Given the description of an element on the screen output the (x, y) to click on. 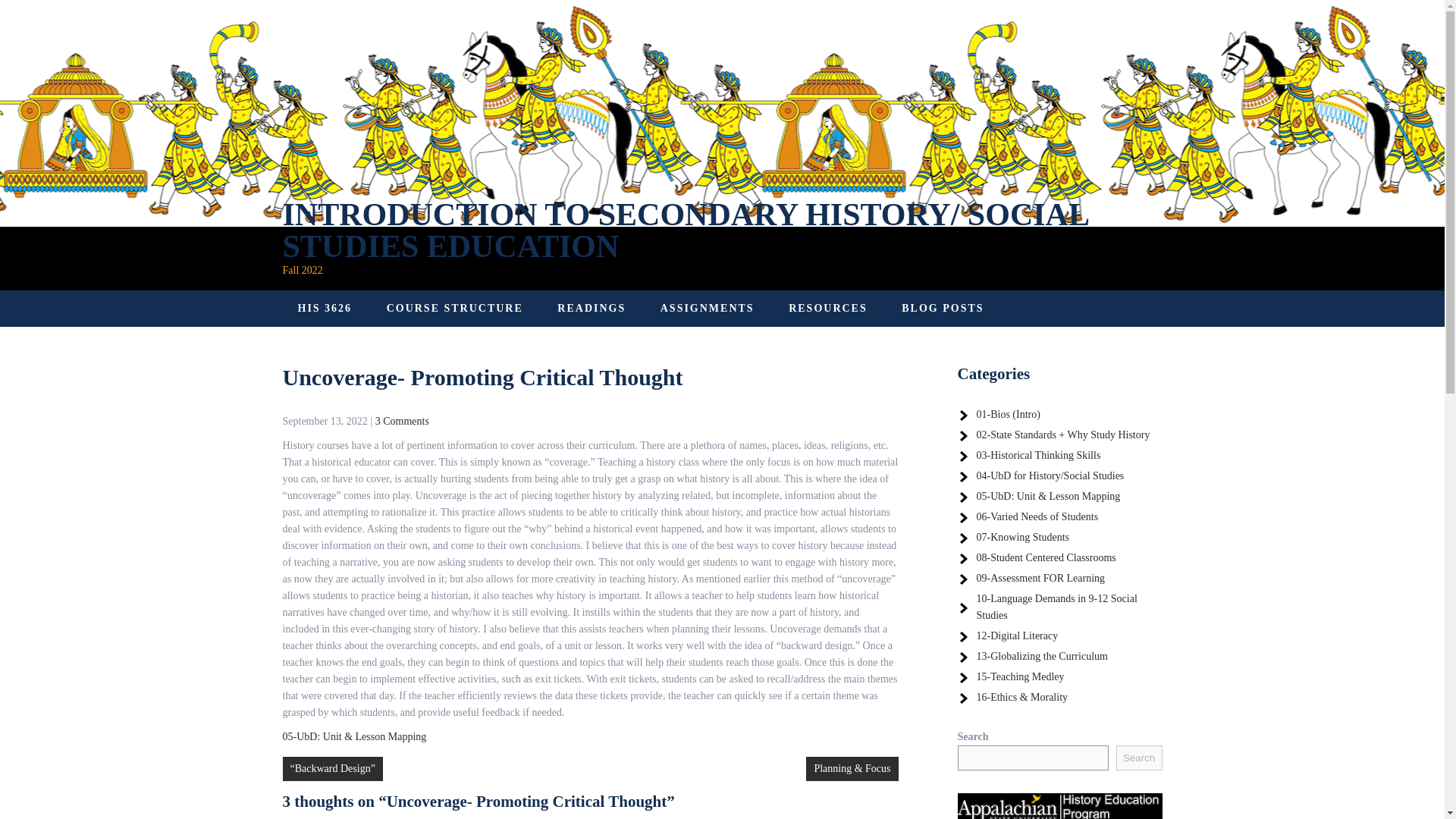
COURSE STRUCTURE (454, 308)
03-Historical Thinking Skills (1038, 455)
HIS 3626 (324, 308)
08-Student Centered Classrooms (1046, 557)
3 Comments (402, 420)
BLOG POSTS (942, 308)
09-Assessment FOR Learning (1040, 577)
ASSIGNMENTS (707, 308)
06-Varied Needs of Students (1037, 516)
RESOURCES (827, 308)
07-Knowing Students (1023, 536)
READINGS (590, 308)
